Given the description of an element on the screen output the (x, y) to click on. 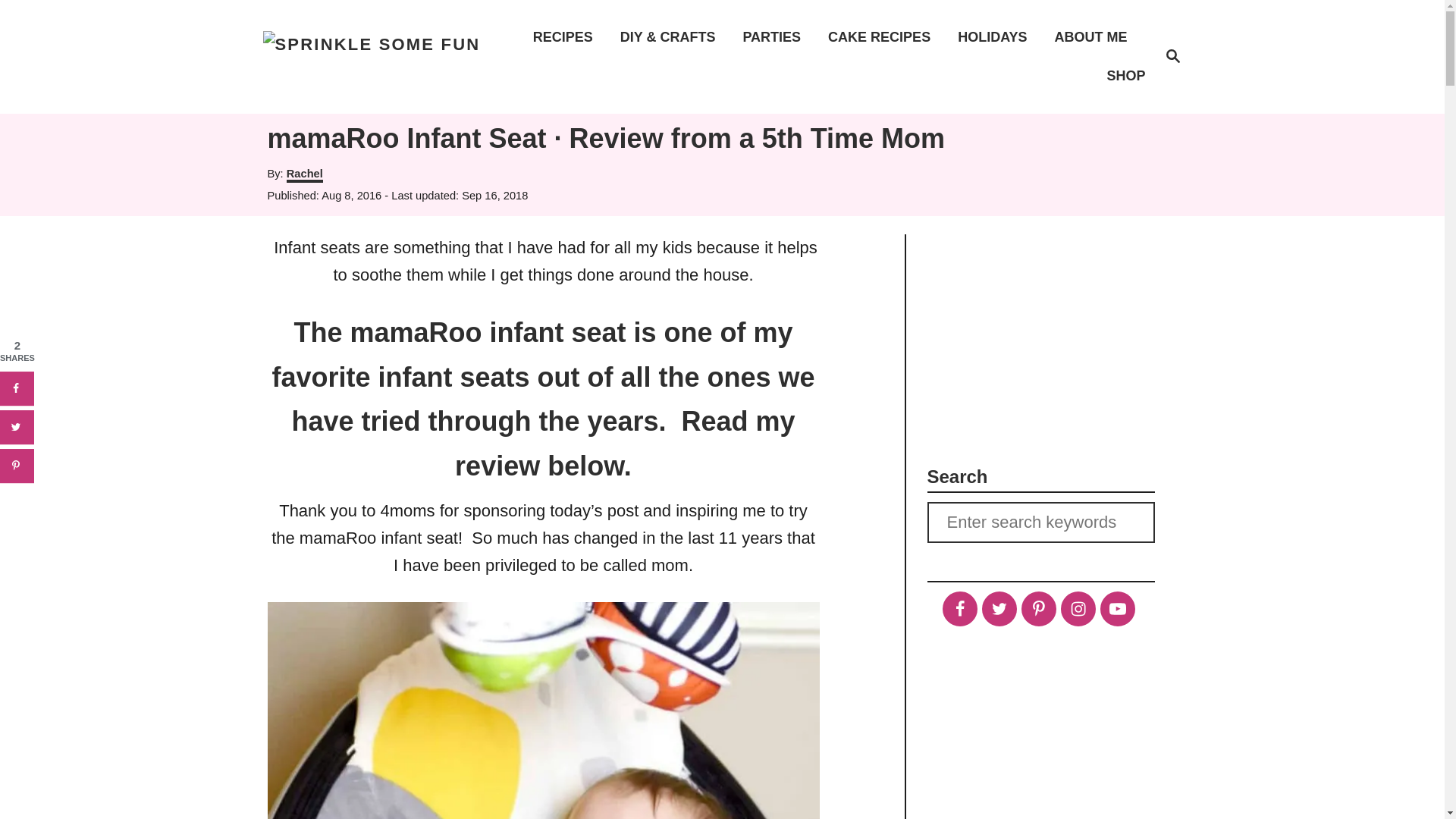
ABOUT ME (1094, 37)
HOLIDAYS (1171, 56)
Follow on Instagram (997, 37)
RECIPES (1076, 608)
PARTIES (567, 37)
Search for: (775, 37)
CAKE RECIPES (1040, 522)
Magnifying Glass (883, 37)
Sprinkle Some Fun (1171, 55)
Follow on Twitter (371, 56)
Follow on Pinterest (998, 608)
SHOP (1037, 608)
Follow on Facebook (1120, 75)
Rachel (959, 608)
